Given the description of an element on the screen output the (x, y) to click on. 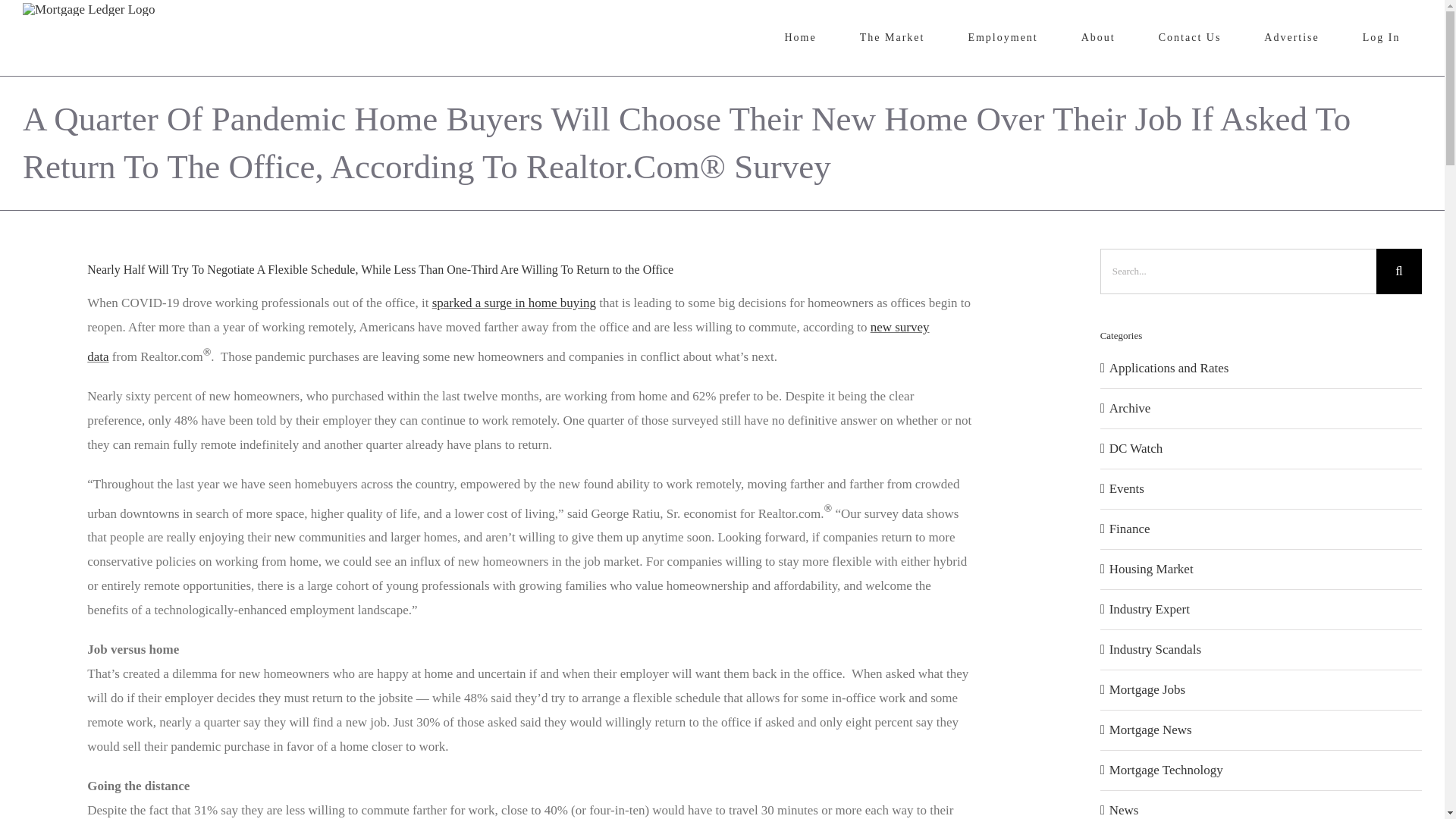
Archive (1261, 408)
Applications and Rates (1261, 368)
Contact Us (1190, 38)
The Market (892, 38)
About (1098, 38)
Events (1261, 488)
Home (800, 38)
Housing Market (1261, 569)
Advertise (1291, 38)
new survey data (507, 341)
